Given the description of an element on the screen output the (x, y) to click on. 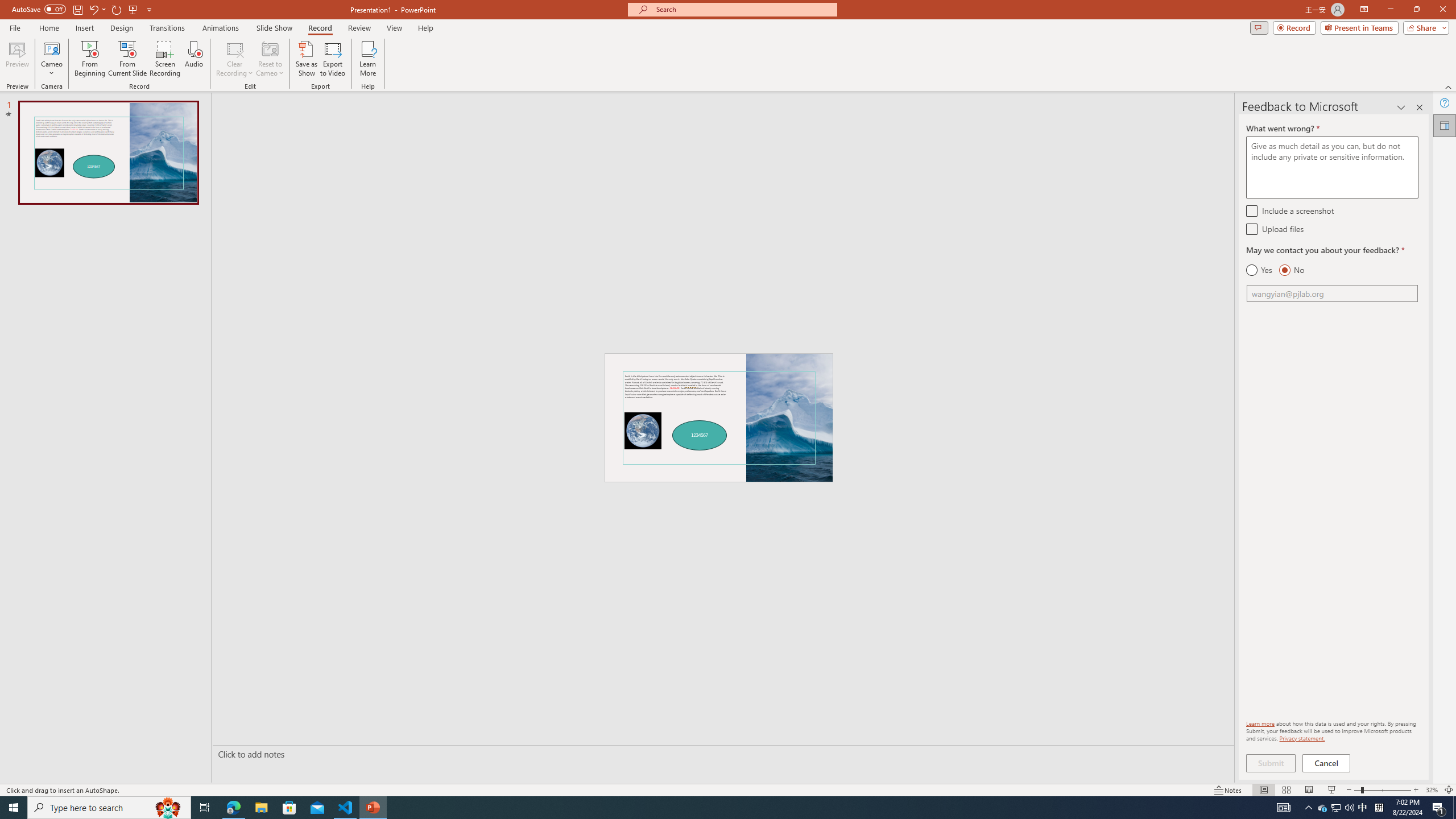
Submit (1270, 763)
Feedback to Microsoft (1444, 125)
No (1291, 269)
